Given the description of an element on the screen output the (x, y) to click on. 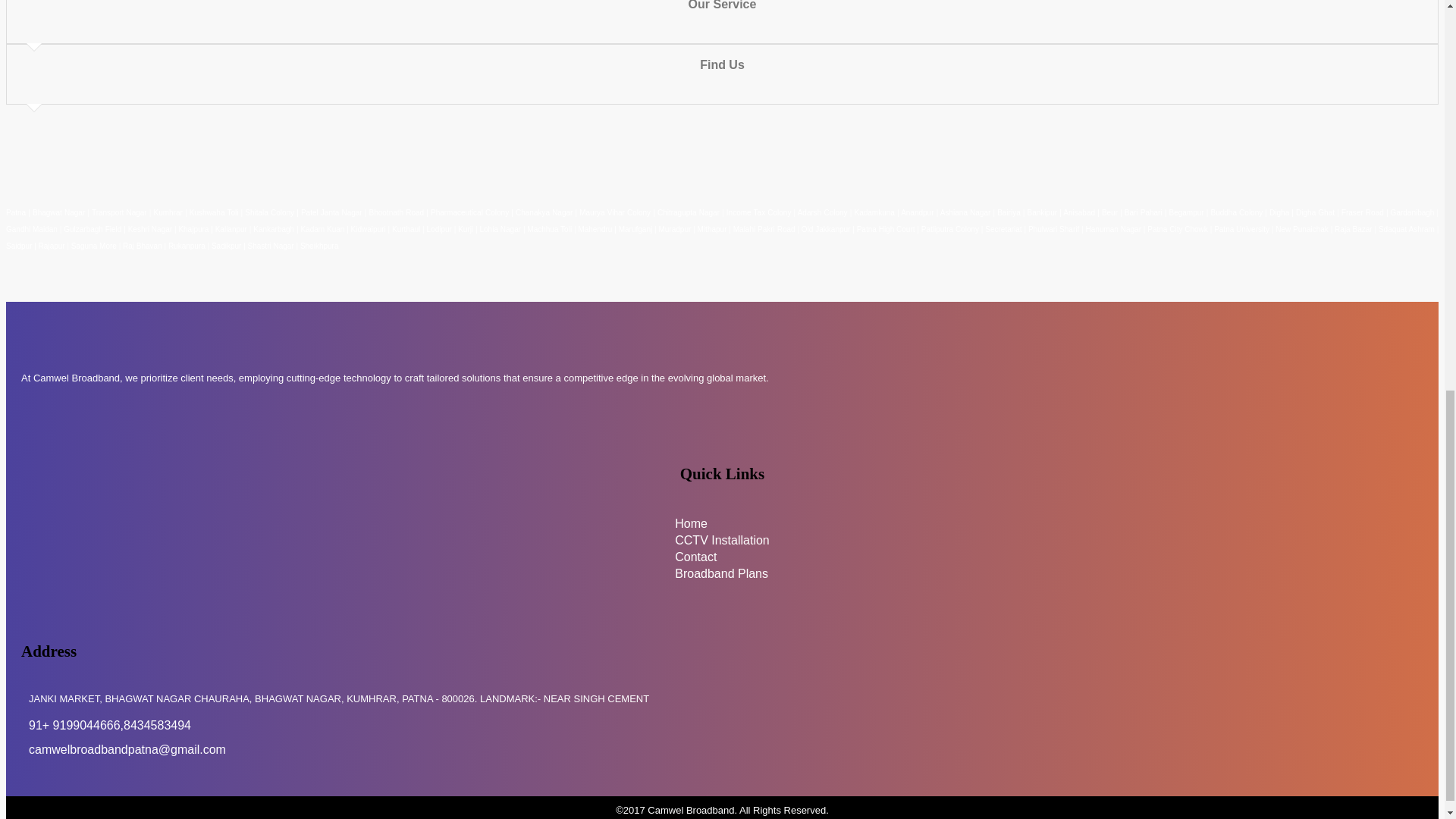
Shitala Colony (269, 212)
Kadamkuna (873, 212)
Chitragupta Nagar (688, 212)
Anandpur (918, 212)
Pharmaceutical Colony (469, 212)
Patel Janta Nagar (331, 212)
Income Tax Colony (759, 212)
Kushwaha Toli (213, 212)
Chanakya Nagar (543, 212)
Patna (16, 212)
Transport Nagar (120, 212)
Kumhrar (168, 212)
Ashiana Nagar (965, 212)
Camwel Broadband (690, 808)
Bhootnath Road (395, 212)
